Given the description of an element on the screen output the (x, y) to click on. 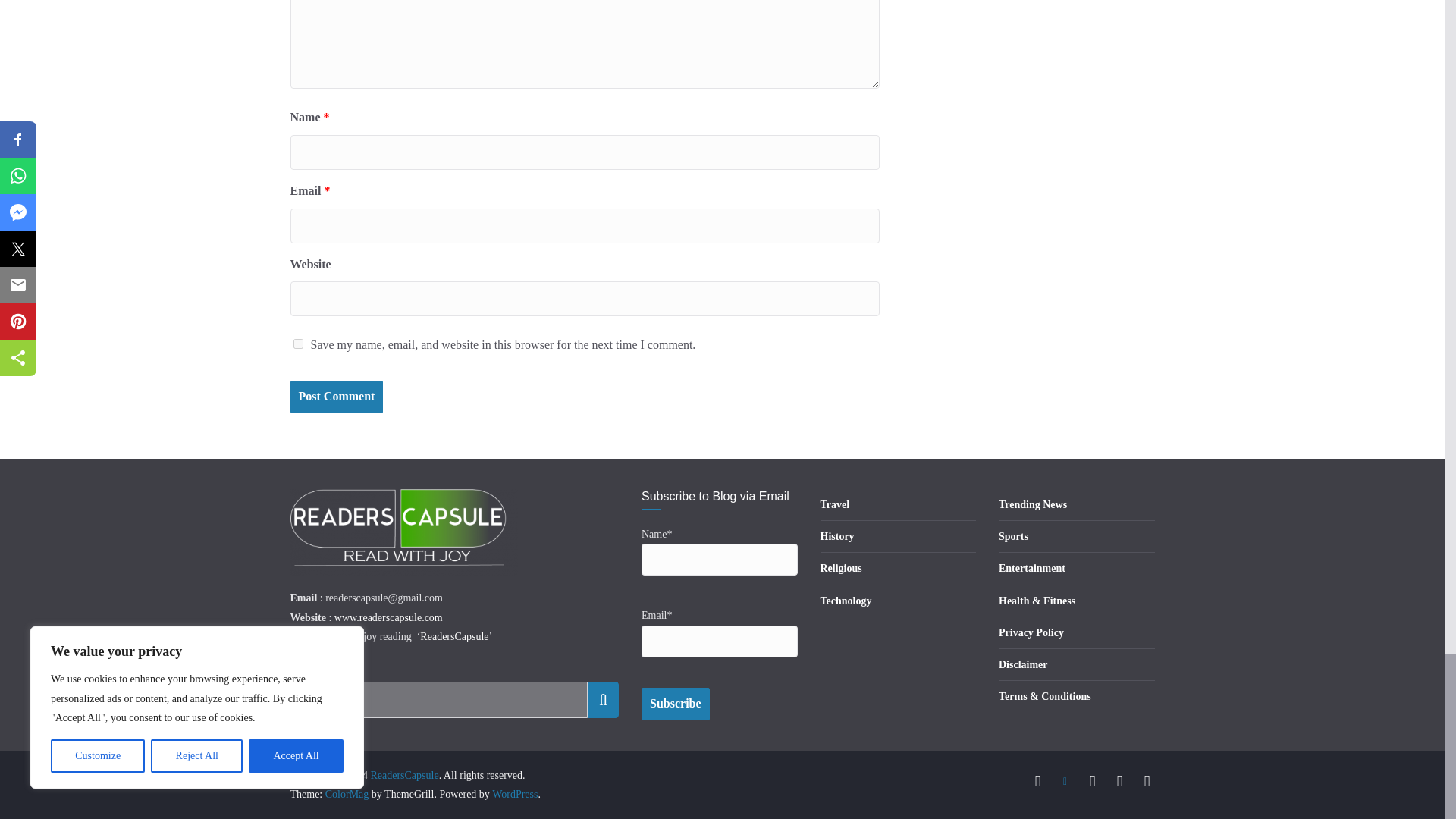
yes (297, 343)
Post Comment (335, 396)
Subscribe (676, 703)
